Given the description of an element on the screen output the (x, y) to click on. 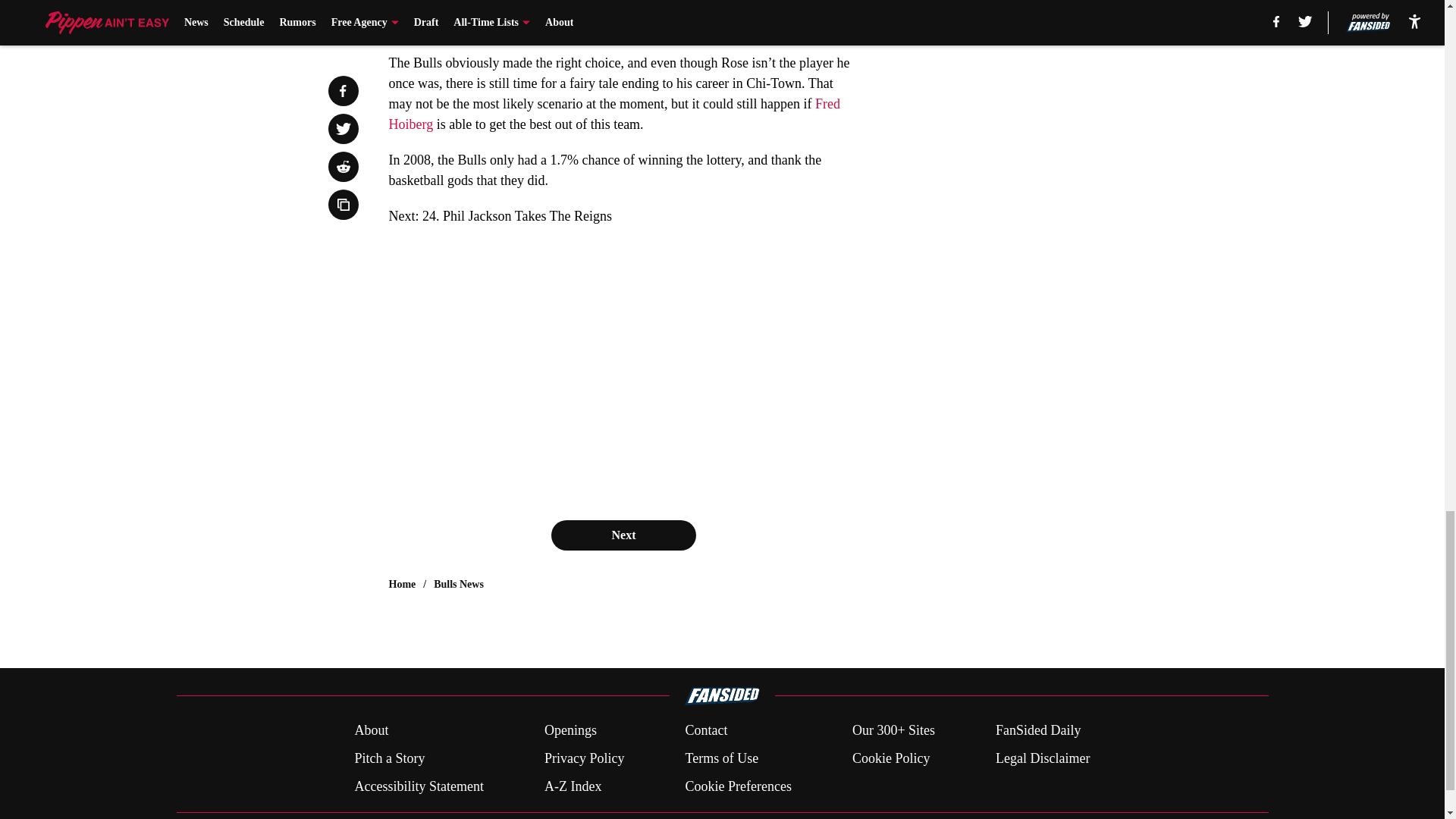
About (370, 730)
Fred Hoiberg (614, 113)
Contact (705, 730)
Openings (570, 730)
Bulls News (458, 584)
Home (401, 584)
Next (622, 535)
